Given the description of an element on the screen output the (x, y) to click on. 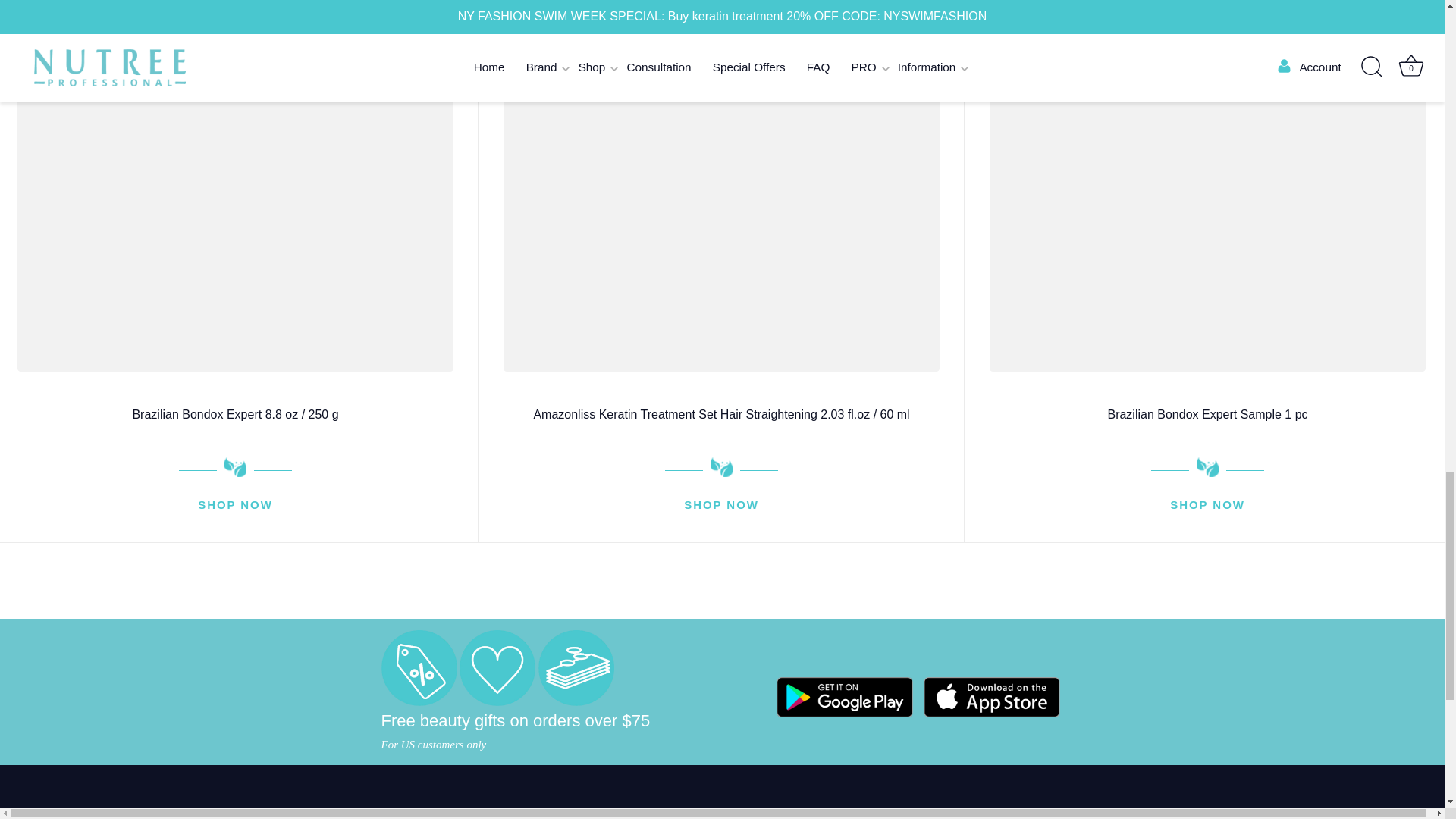
Shop Now (234, 505)
Shop Now (721, 505)
Shop Now (1207, 505)
